Given the description of an element on the screen output the (x, y) to click on. 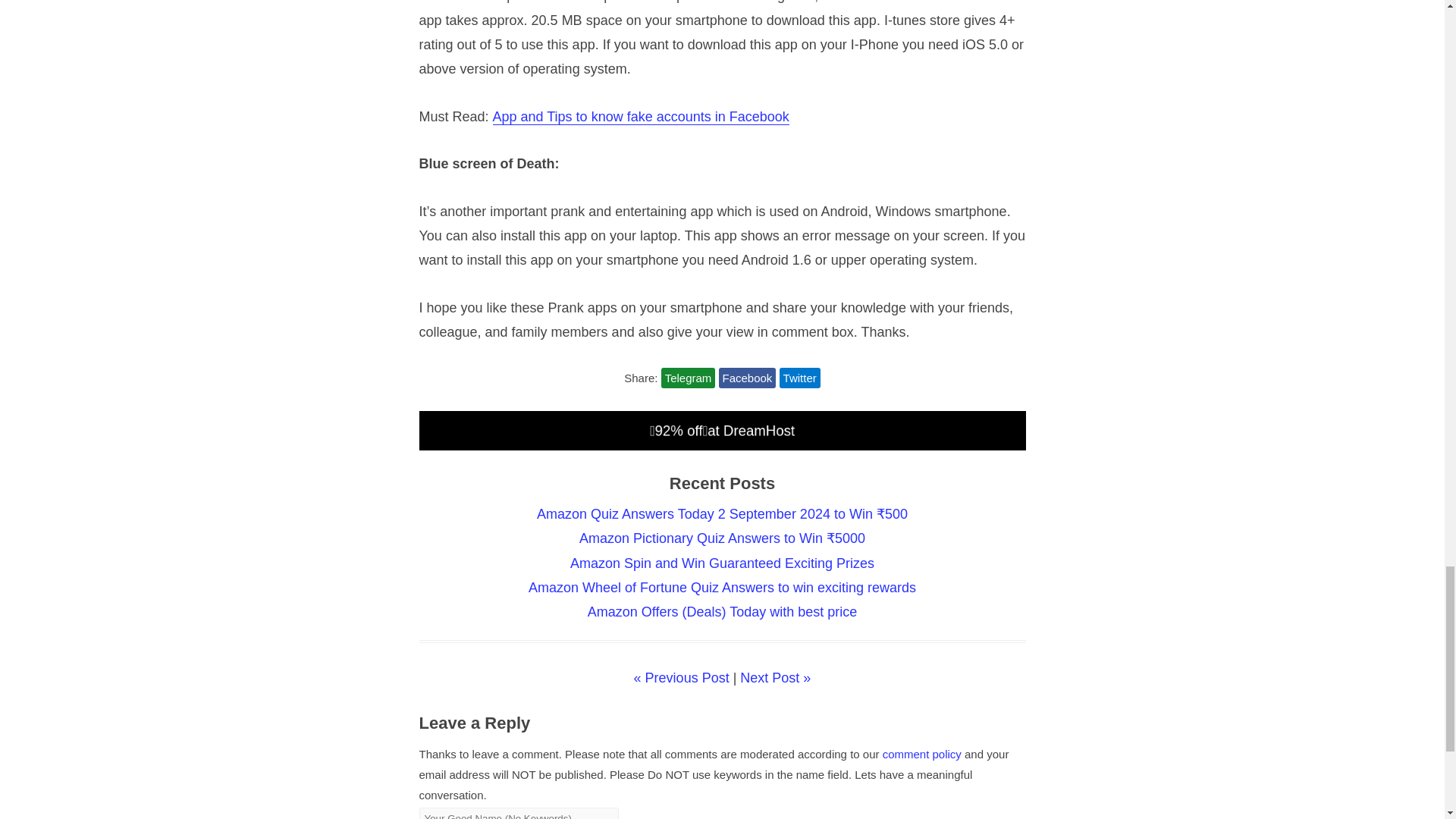
Facebook (747, 377)
App and Tips to know fake accounts in Facebook (641, 116)
Share on Telegram (688, 377)
Tweet on Twitter (799, 377)
Amazon Wheel of Fortune Quiz Answers to win exciting rewards (721, 587)
Telegram (688, 377)
Twitter (799, 377)
Comment Policy (921, 753)
Amazon Spin and Win Guaranteed Exciting Prizes (722, 563)
Share on Facebook (747, 377)
